Given the description of an element on the screen output the (x, y) to click on. 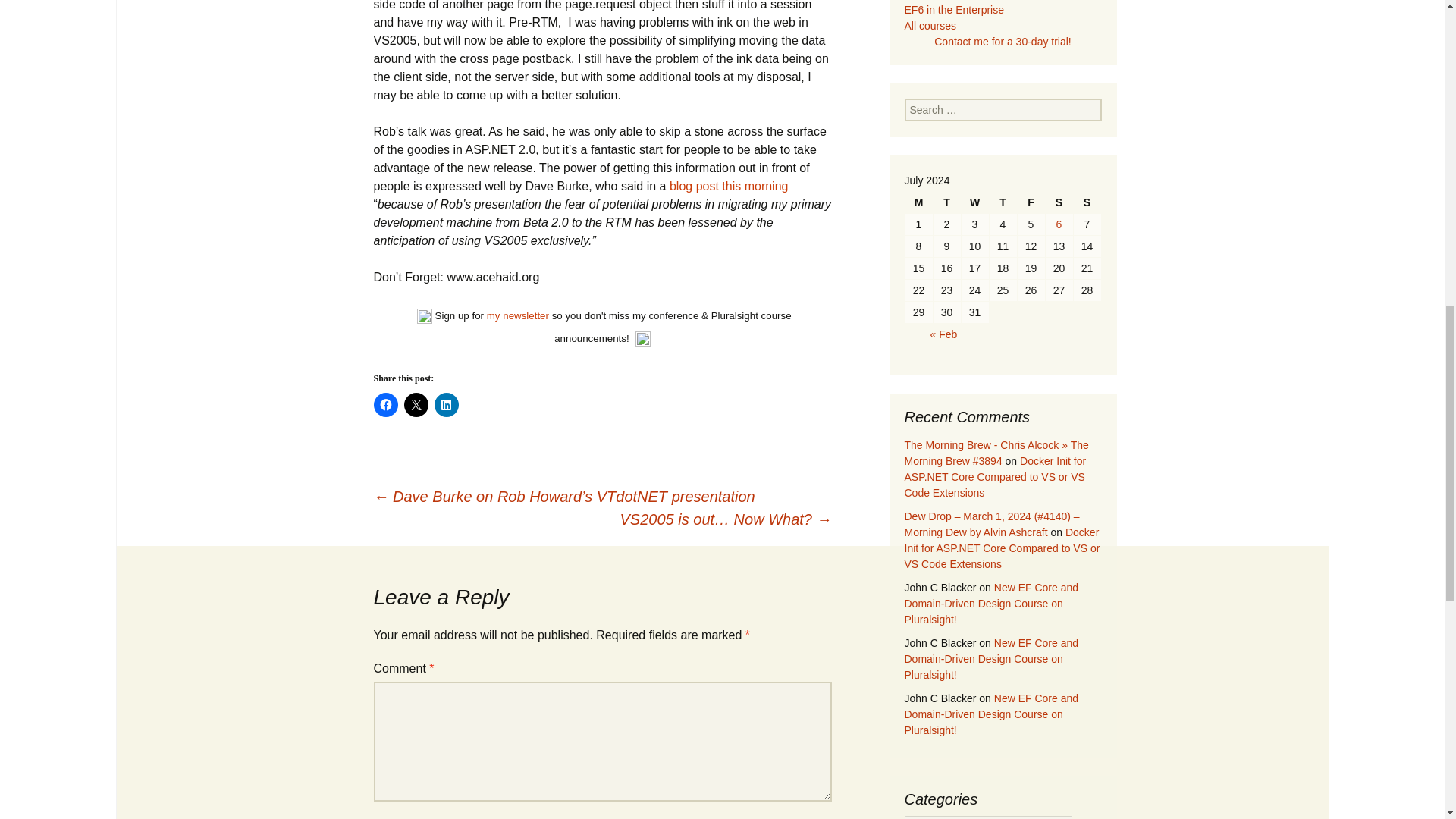
Saturday (1058, 201)
Click to share on Facebook (384, 404)
my newsletter (517, 315)
Friday (1031, 201)
Monday (919, 201)
Tuesday (946, 201)
Thursday (1002, 201)
blog post this morning (729, 185)
Wednesday (974, 201)
Click to share on X (415, 404)
Click to share on LinkedIn (445, 404)
Sunday (1087, 201)
